Given the description of an element on the screen output the (x, y) to click on. 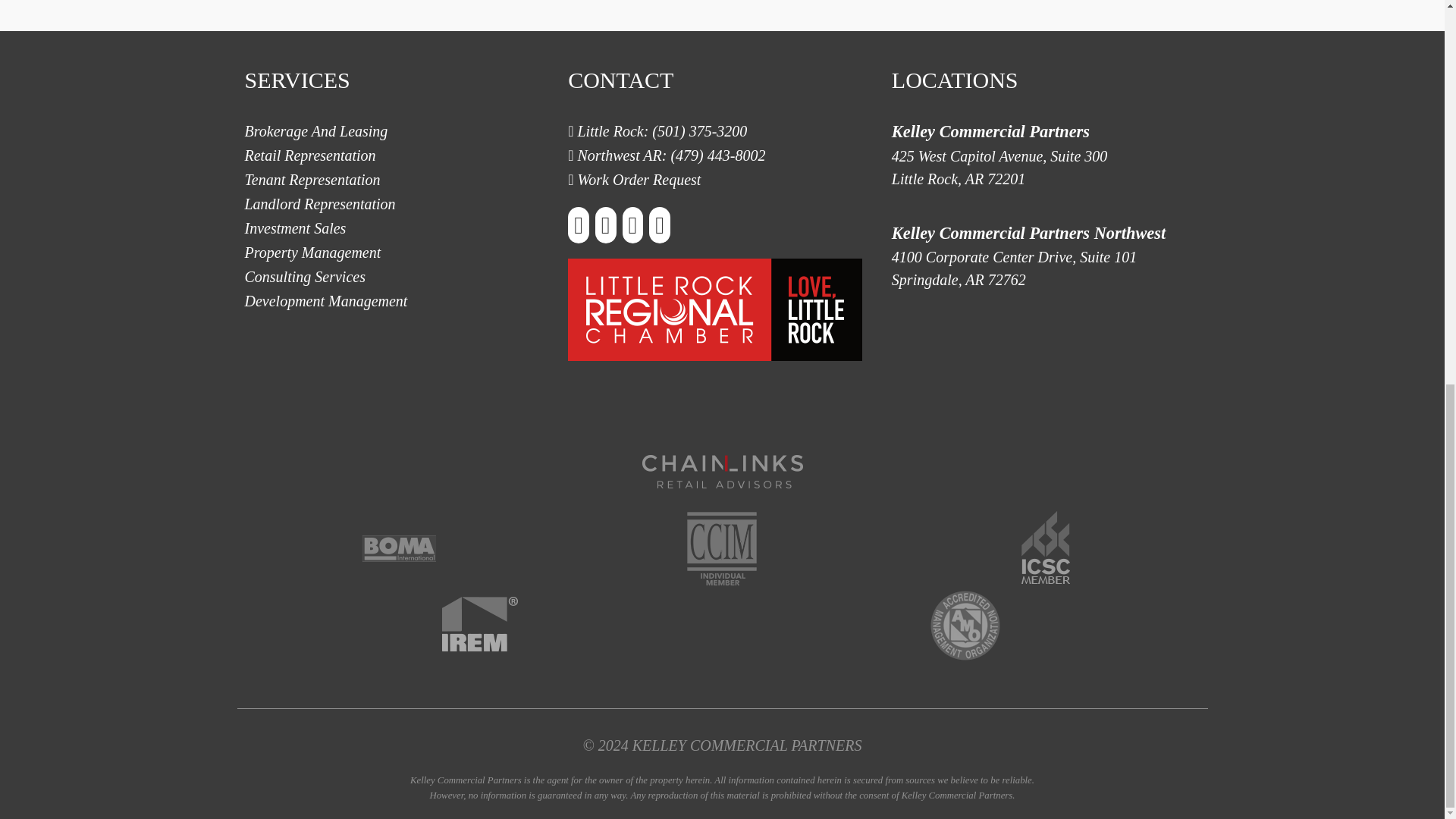
Work Order Request (638, 179)
Property Management (312, 252)
Landlord Representation (319, 203)
Brokerage And Leasing (315, 130)
Development Management (325, 300)
Tenant Representation (312, 179)
Investment Sales (1045, 167)
Consulting Services (295, 228)
Retail Representation (304, 276)
